Given the description of an element on the screen output the (x, y) to click on. 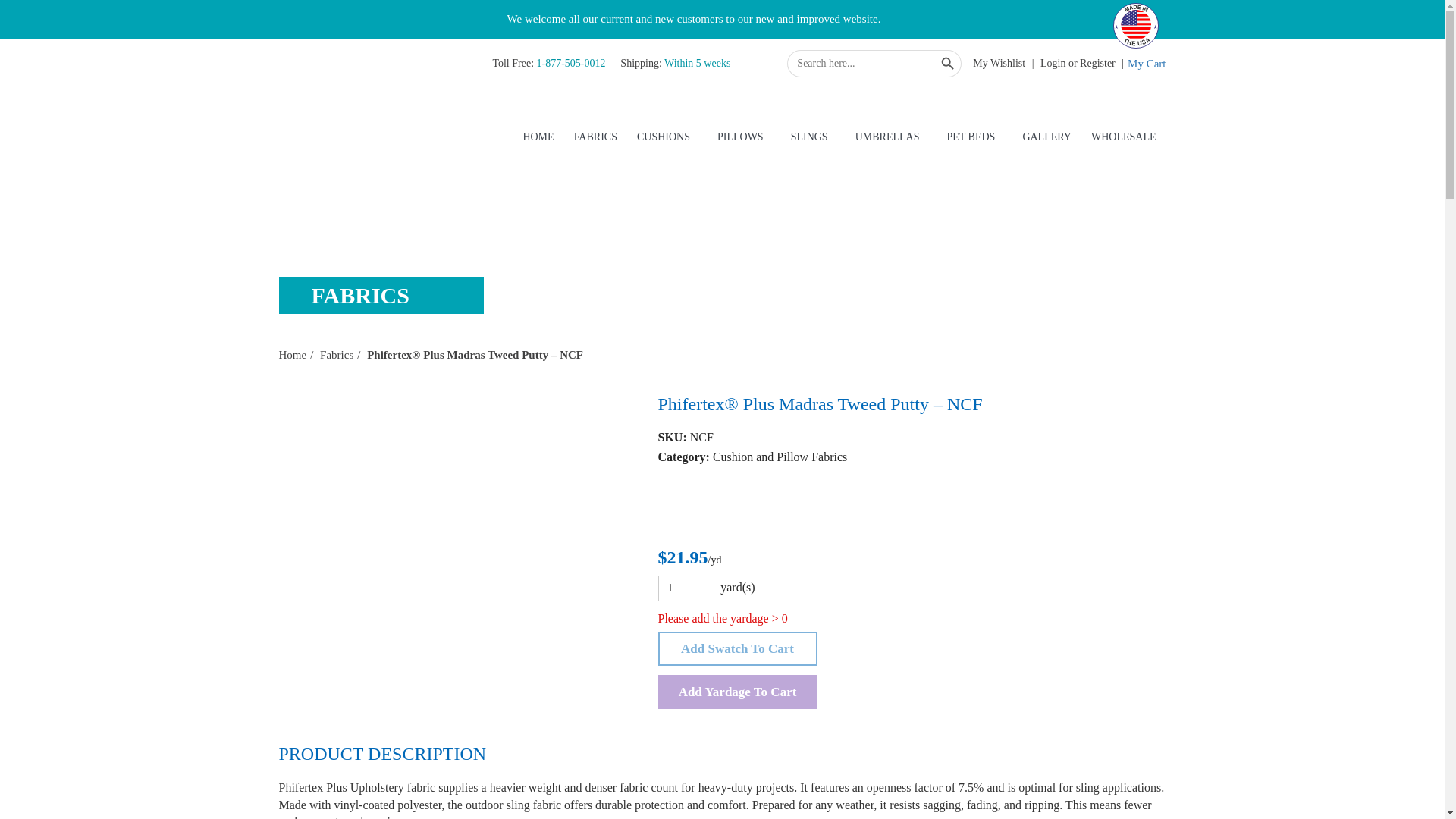
HOME (537, 137)
1-877-505-0012 (571, 62)
CUSHIONS (663, 137)
Search Button (947, 62)
View your shopping cart (1146, 64)
Login (1053, 62)
1 (684, 588)
PILLOWS (740, 137)
My Cart (1146, 64)
FABRICS (595, 137)
